Given the description of an element on the screen output the (x, y) to click on. 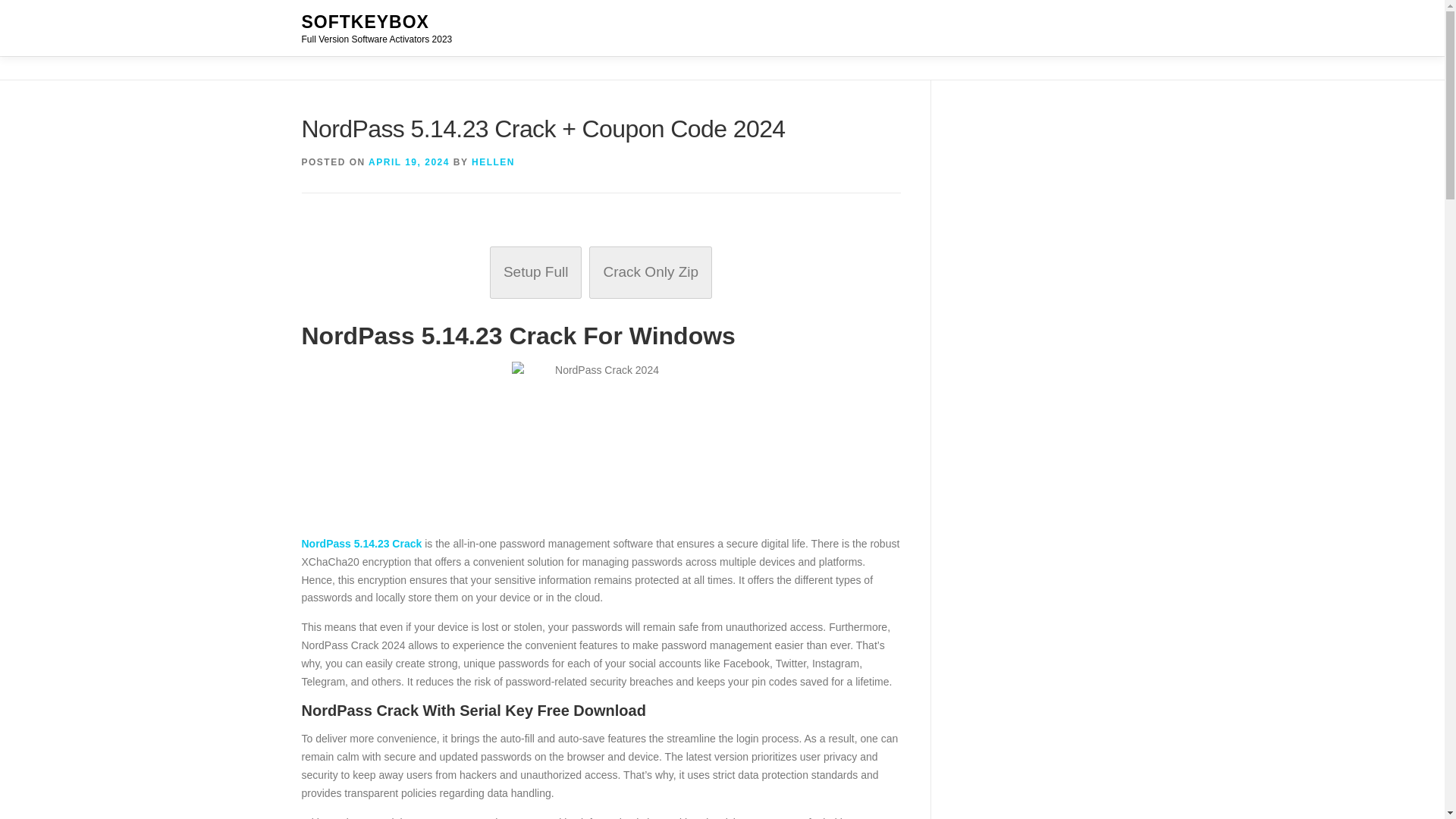
Setup Full (535, 272)
Setup FullCrack Only Zip (600, 272)
NordPass 5.14.23 Crack (361, 543)
SOFTKEYBOX (365, 21)
Crack Only Zip (650, 272)
HELLEN (493, 162)
APRIL 19, 2024 (408, 162)
